Given the description of an element on the screen output the (x, y) to click on. 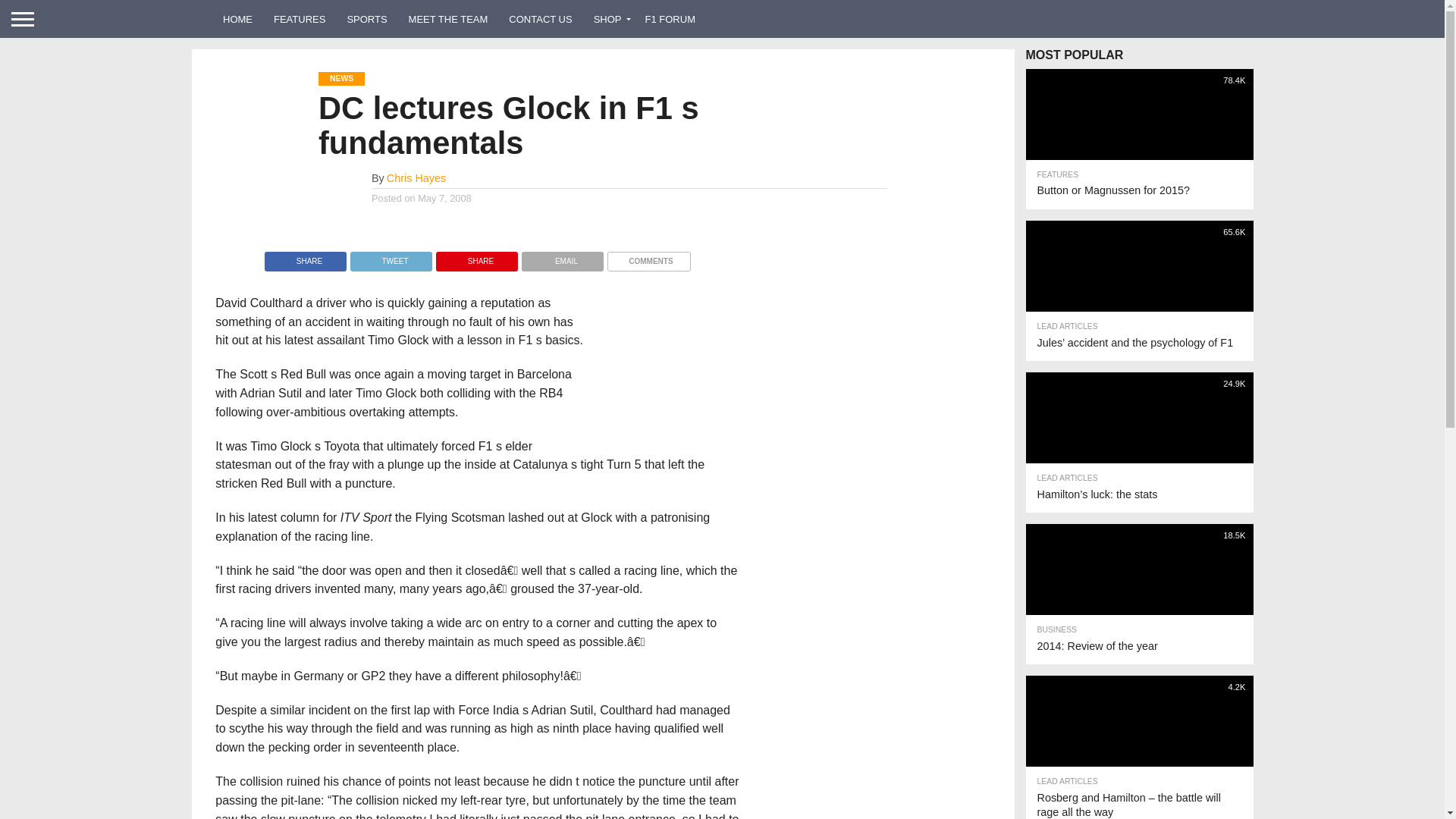
HOME (237, 18)
SPORTS (366, 18)
CONTACT US (539, 18)
Posts by Chris Hayes (416, 177)
MEET THE TEAM (448, 18)
FEATURES (299, 18)
Share on Facebook (305, 256)
Tweet This Post (390, 256)
F1 FORUM (670, 18)
Pin This Post (476, 256)
SHOP (608, 18)
